Given the description of an element on the screen output the (x, y) to click on. 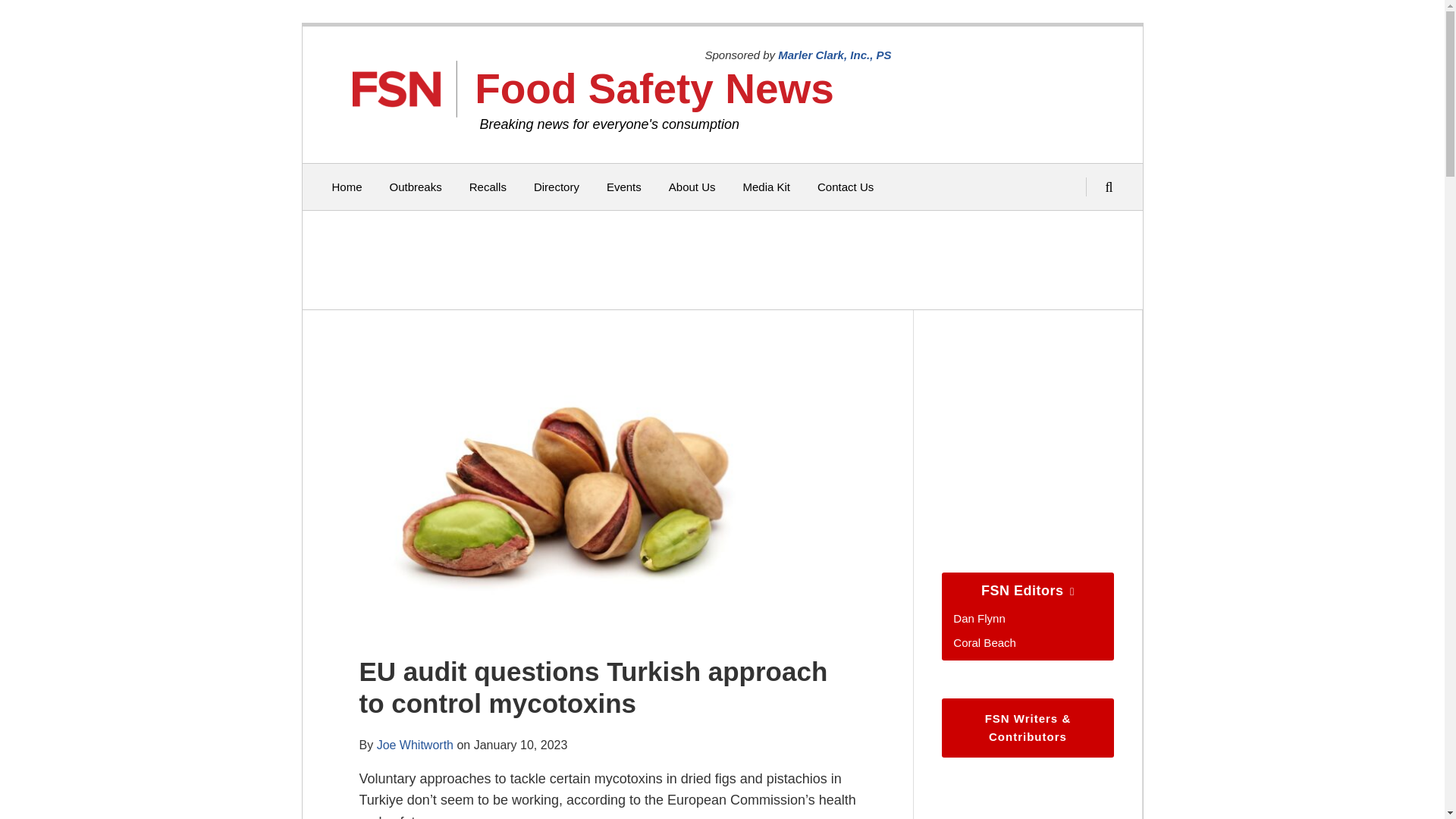
Contact Us (844, 187)
Recalls (487, 187)
Directory (556, 187)
Home (346, 187)
About Us (692, 187)
Joe Whitworth (414, 744)
Food Safety News (654, 88)
Events (624, 187)
Outbreaks (416, 187)
Advertisement (718, 260)
